Given the description of an element on the screen output the (x, y) to click on. 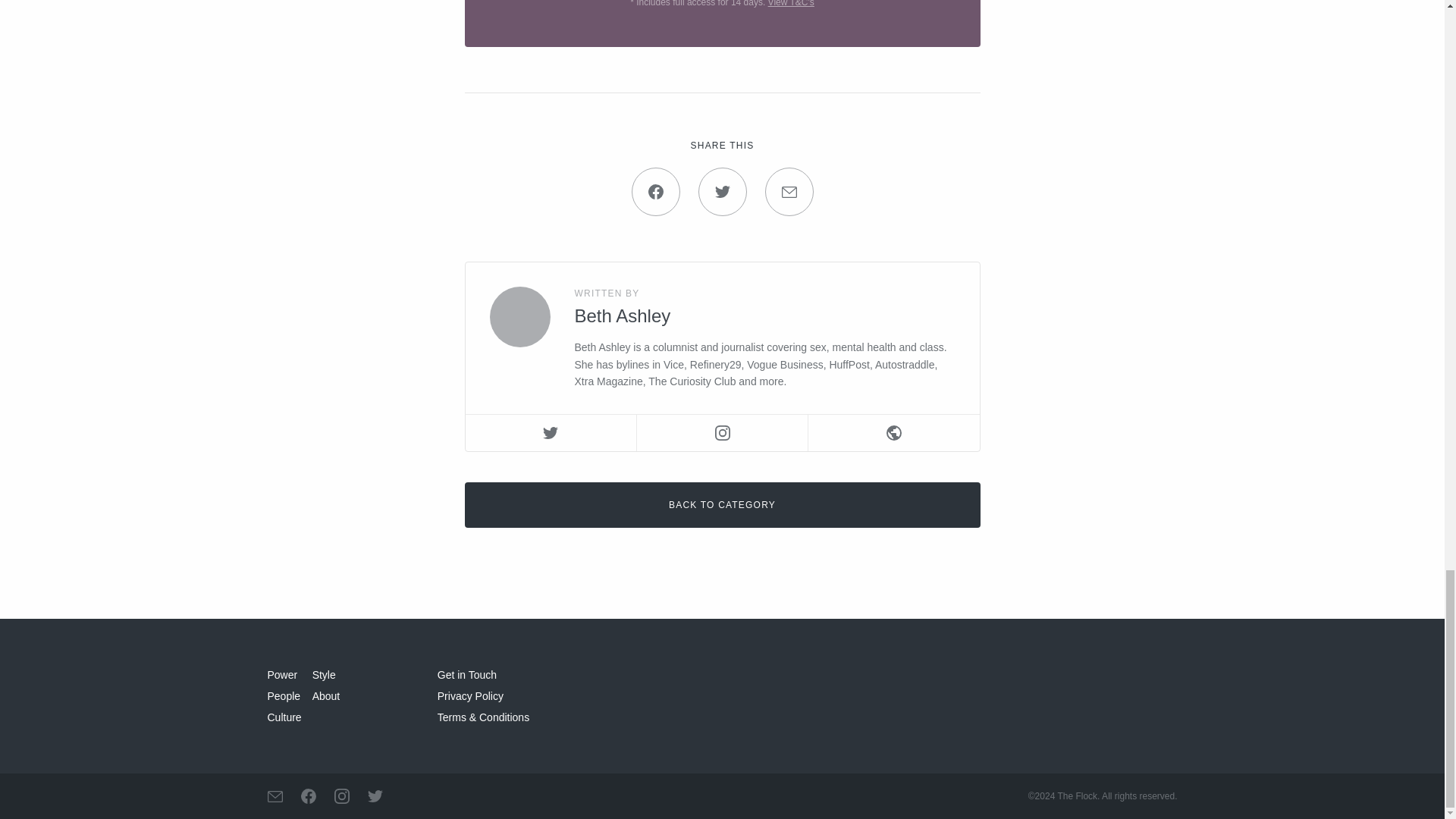
Style (324, 674)
Twitter (551, 432)
Instagram (722, 432)
Culture (283, 717)
About (326, 695)
Website (893, 432)
Culture (283, 717)
People (282, 695)
Power (281, 674)
BACK TO CATEGORY (721, 504)
